Given the description of an element on the screen output the (x, y) to click on. 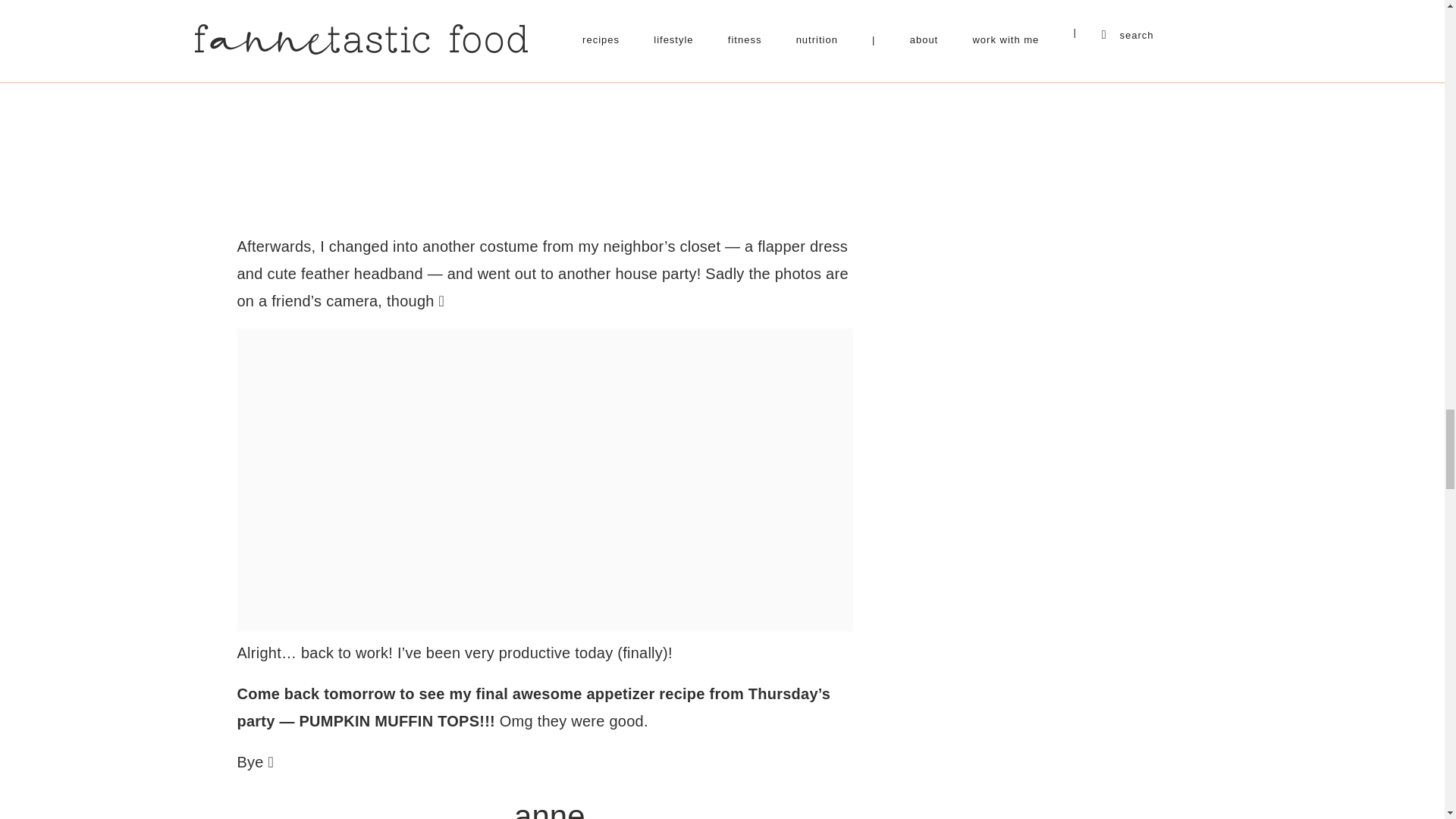
024 (544, 109)
